Given the description of an element on the screen output the (x, y) to click on. 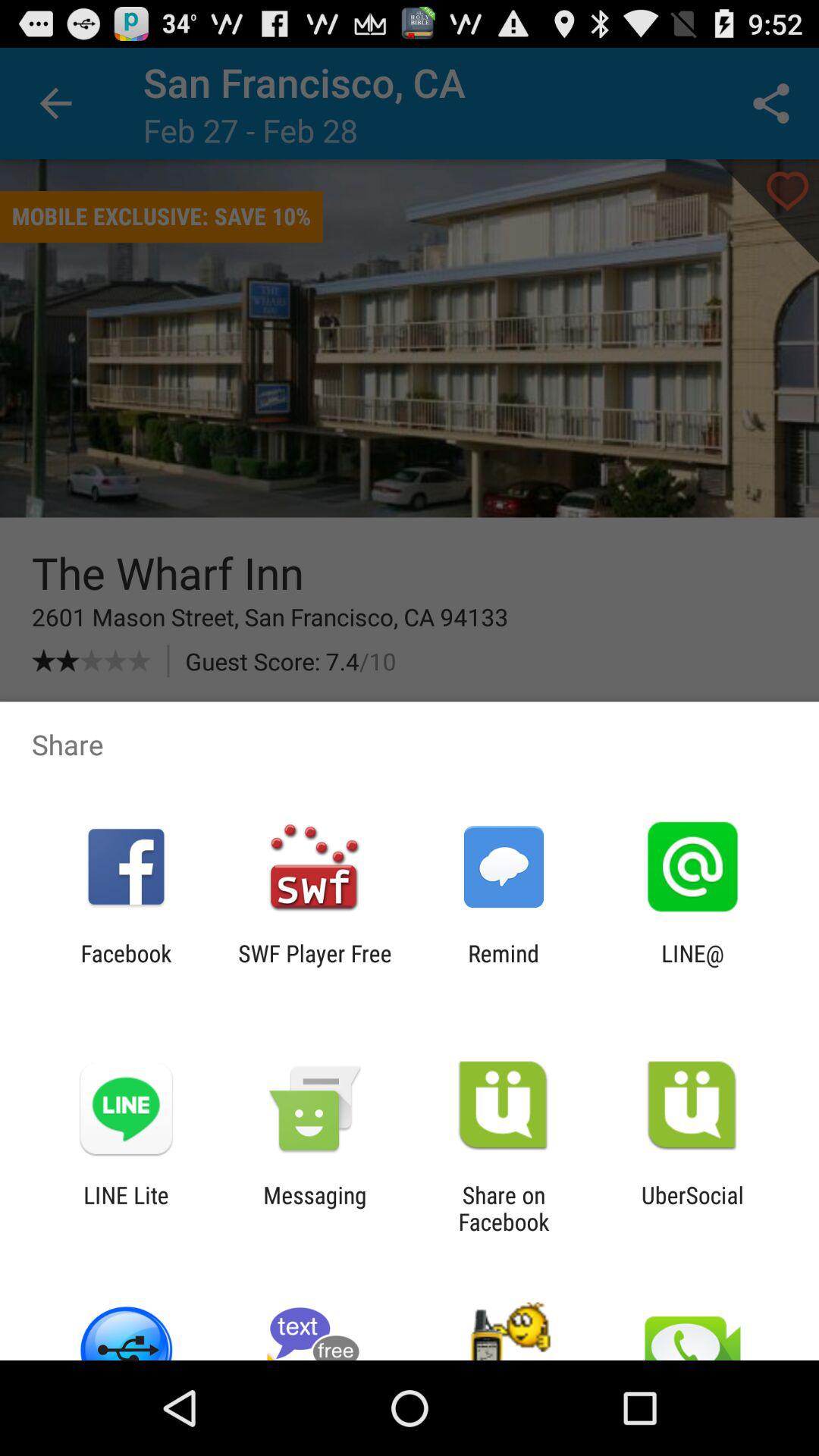
select the swf player free icon (314, 966)
